Given the description of an element on the screen output the (x, y) to click on. 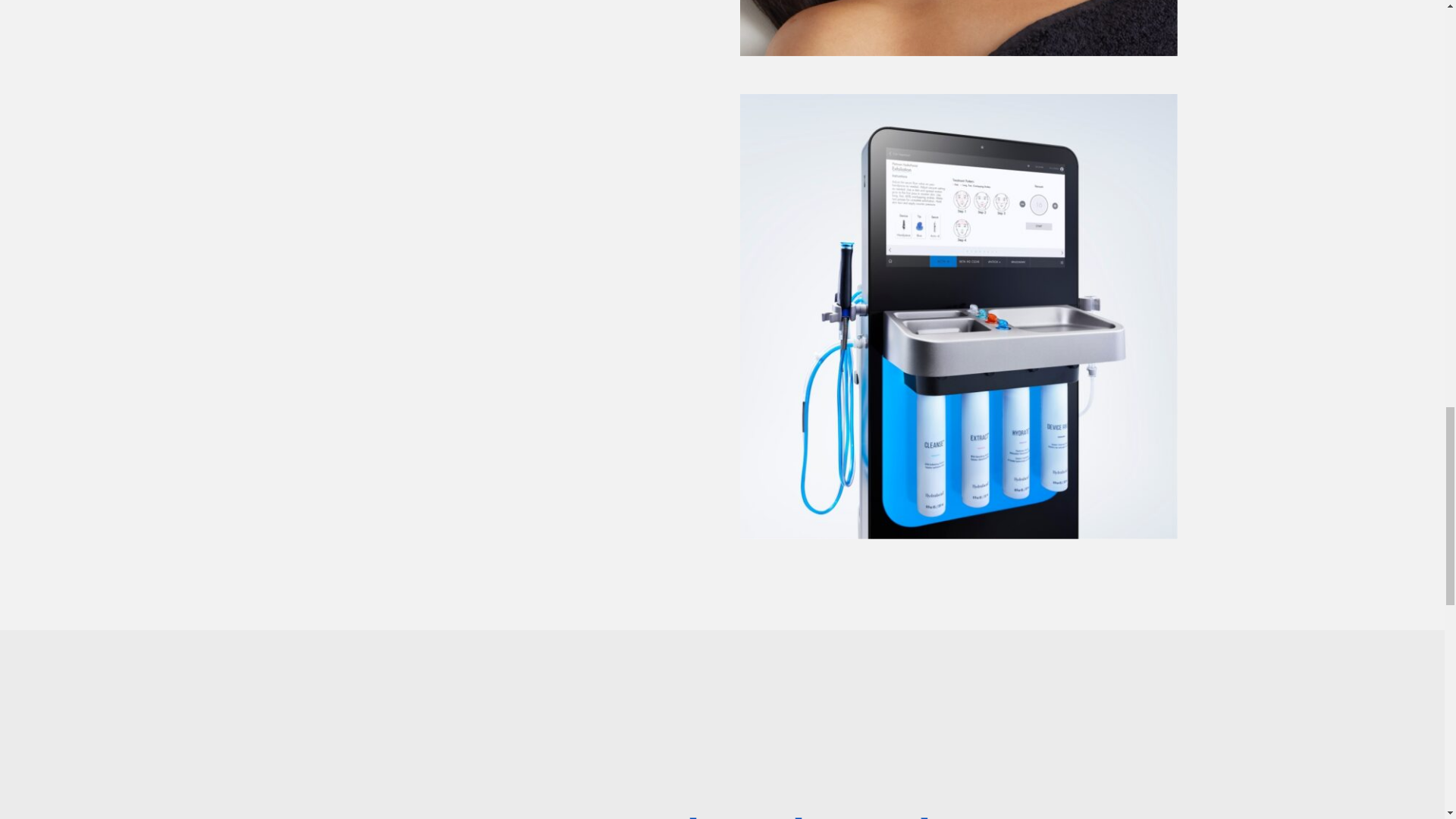
hydra (957, 28)
